Given the description of an element on the screen output the (x, y) to click on. 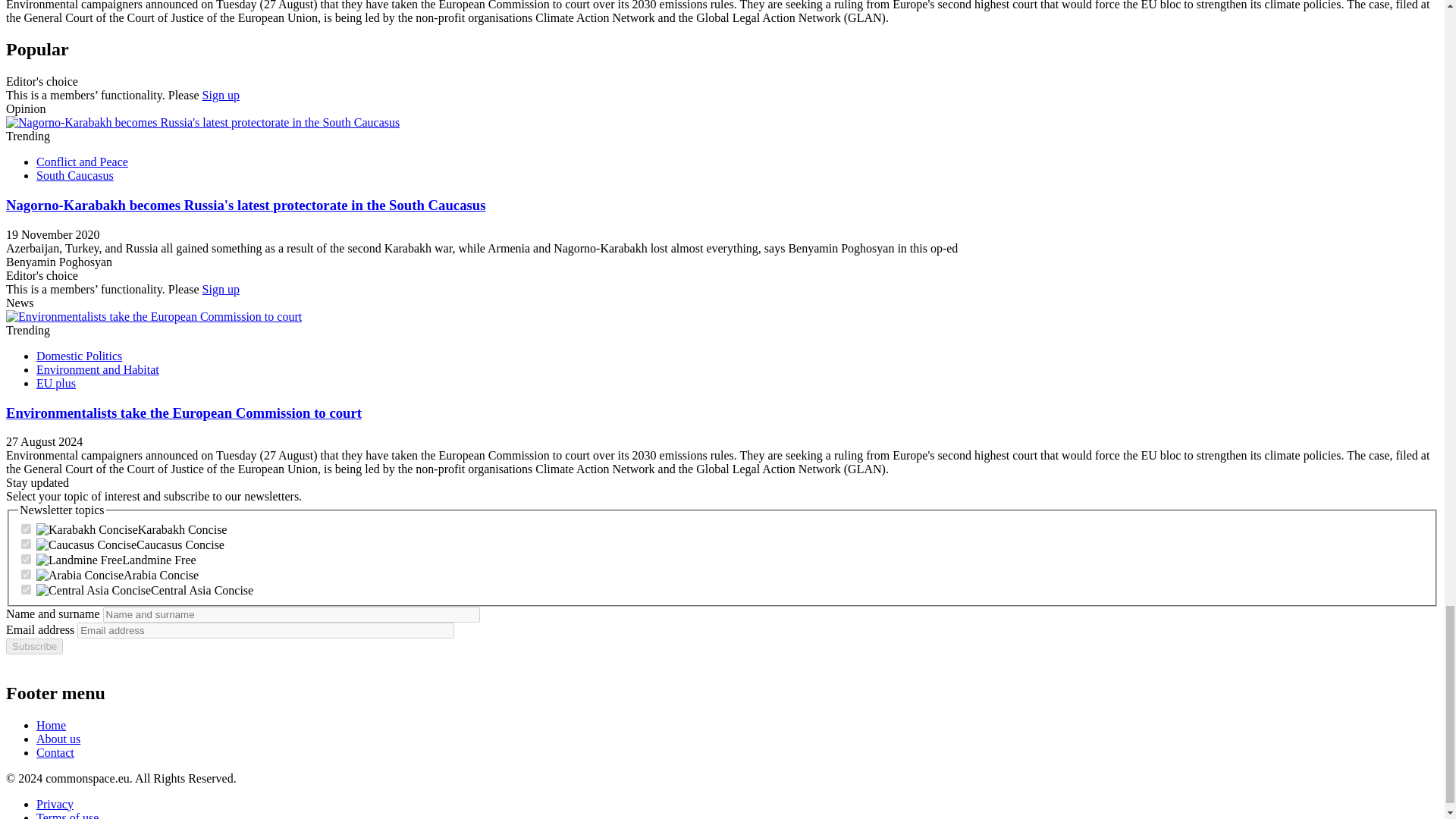
cc (25, 543)
ac (25, 574)
kc (25, 528)
sclo (25, 559)
Subscribe (33, 646)
cac (25, 589)
